Given the description of an element on the screen output the (x, y) to click on. 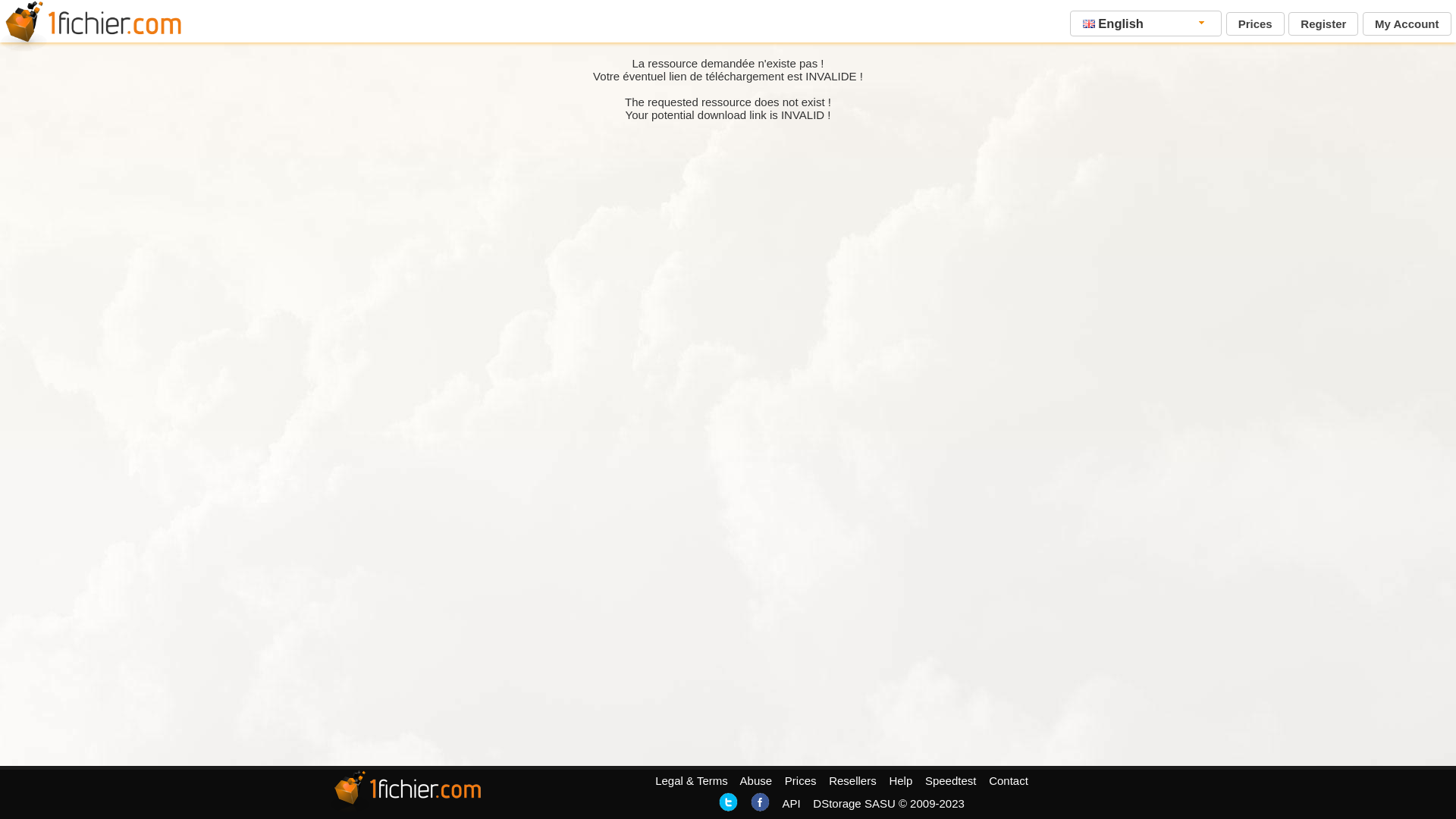
My Account Element type: text (1406, 23)
Legal & Terms Element type: text (691, 780)
Resellers Element type: text (852, 780)
Prices Element type: text (1255, 23)
Help Element type: text (900, 780)
Speedtest Element type: text (950, 780)
Contact Element type: text (1008, 780)
Register Element type: text (1323, 23)
API Element type: text (790, 803)
Prices Element type: text (800, 780)
Abuse Element type: text (756, 780)
